Given the description of an element on the screen output the (x, y) to click on. 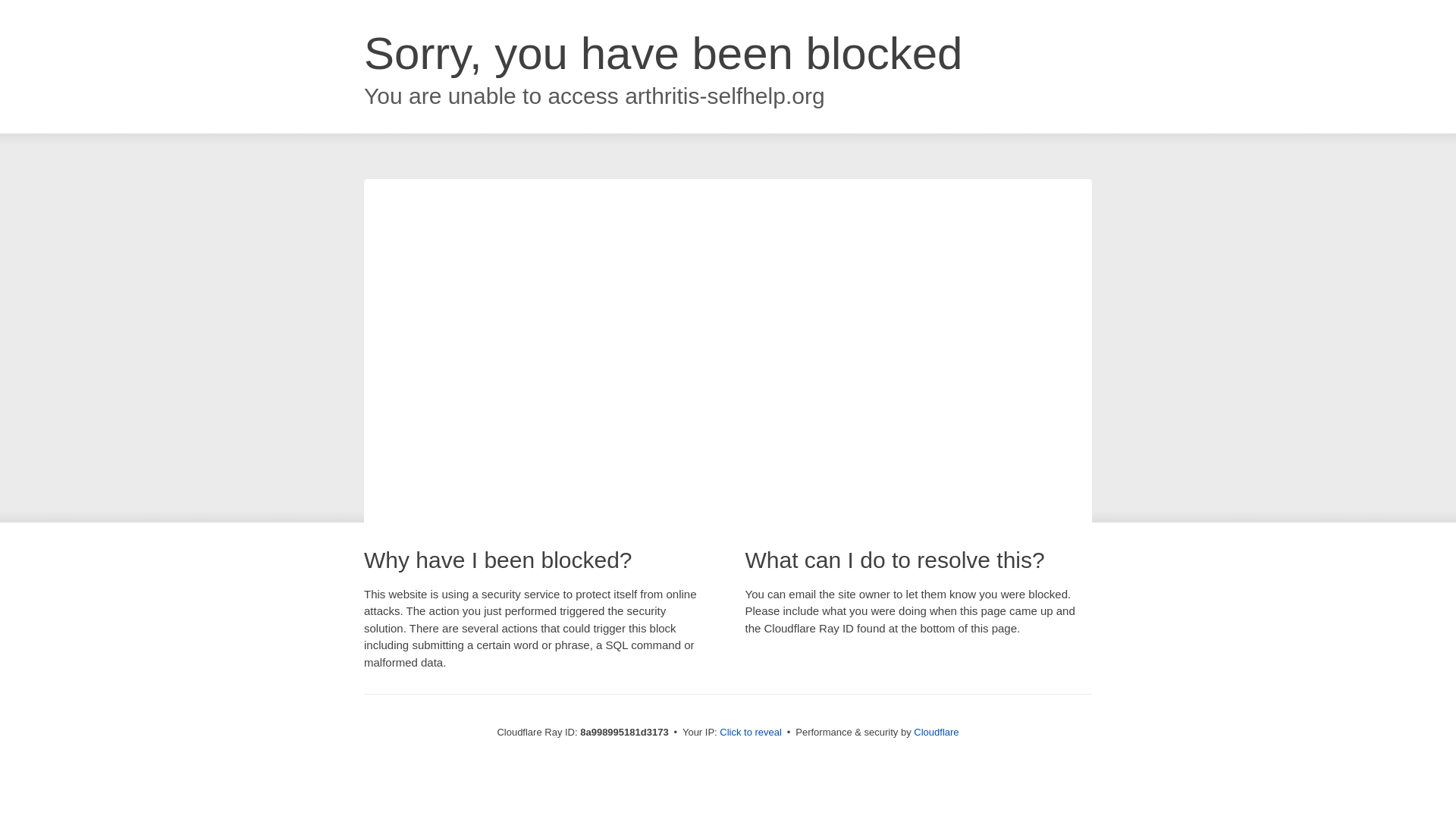
Click to reveal (750, 732)
Cloudflare (936, 731)
